Given the description of an element on the screen output the (x, y) to click on. 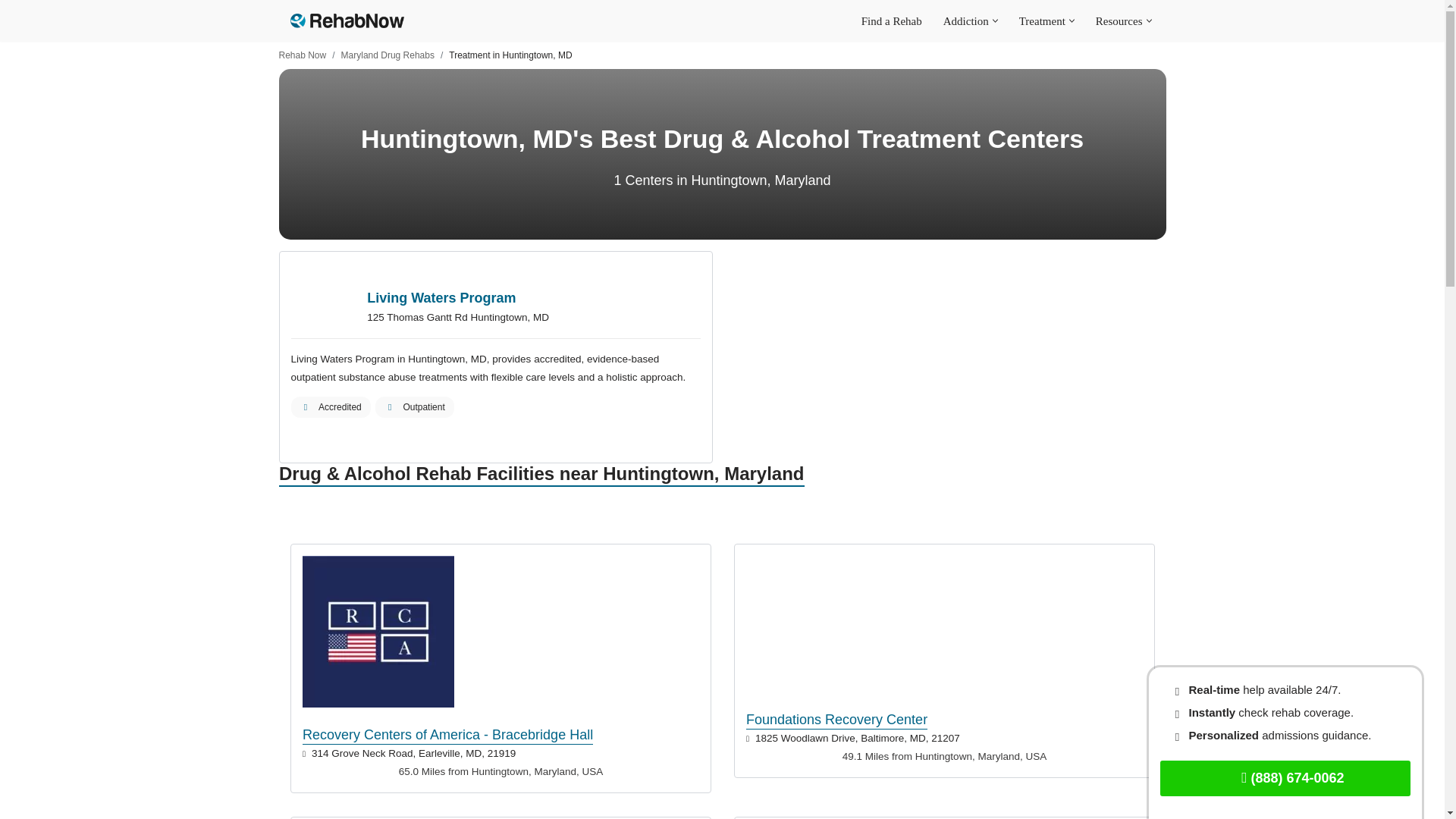
Find a Rehab (891, 20)
Resources (1119, 20)
Skip to content (11, 31)
Treatment (1042, 20)
Addiction (965, 20)
